Given the description of an element on the screen output the (x, y) to click on. 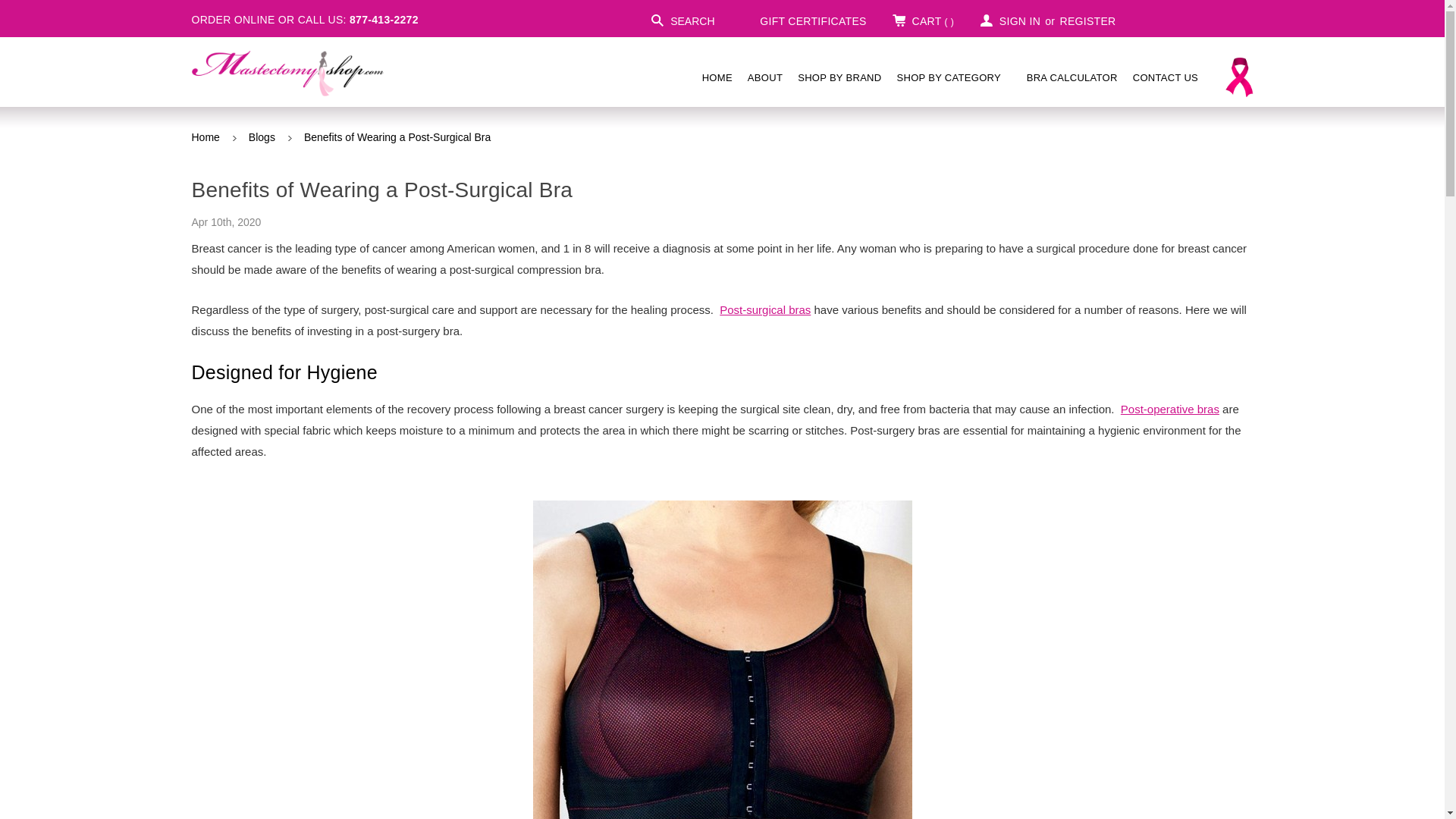
HOME (716, 77)
REGISTER (1087, 20)
SEARCH (682, 20)
877-413-2272 (384, 19)
GIFT CERTIFICATES (803, 20)
SHOP BY BRAND (839, 77)
Post-operative bra (721, 659)
Mastectomy Shop (286, 73)
CART (922, 20)
ABOUT (764, 77)
SHOP BY CATEGORY (954, 77)
SIGN IN (1010, 20)
